Given the description of an element on the screen output the (x, y) to click on. 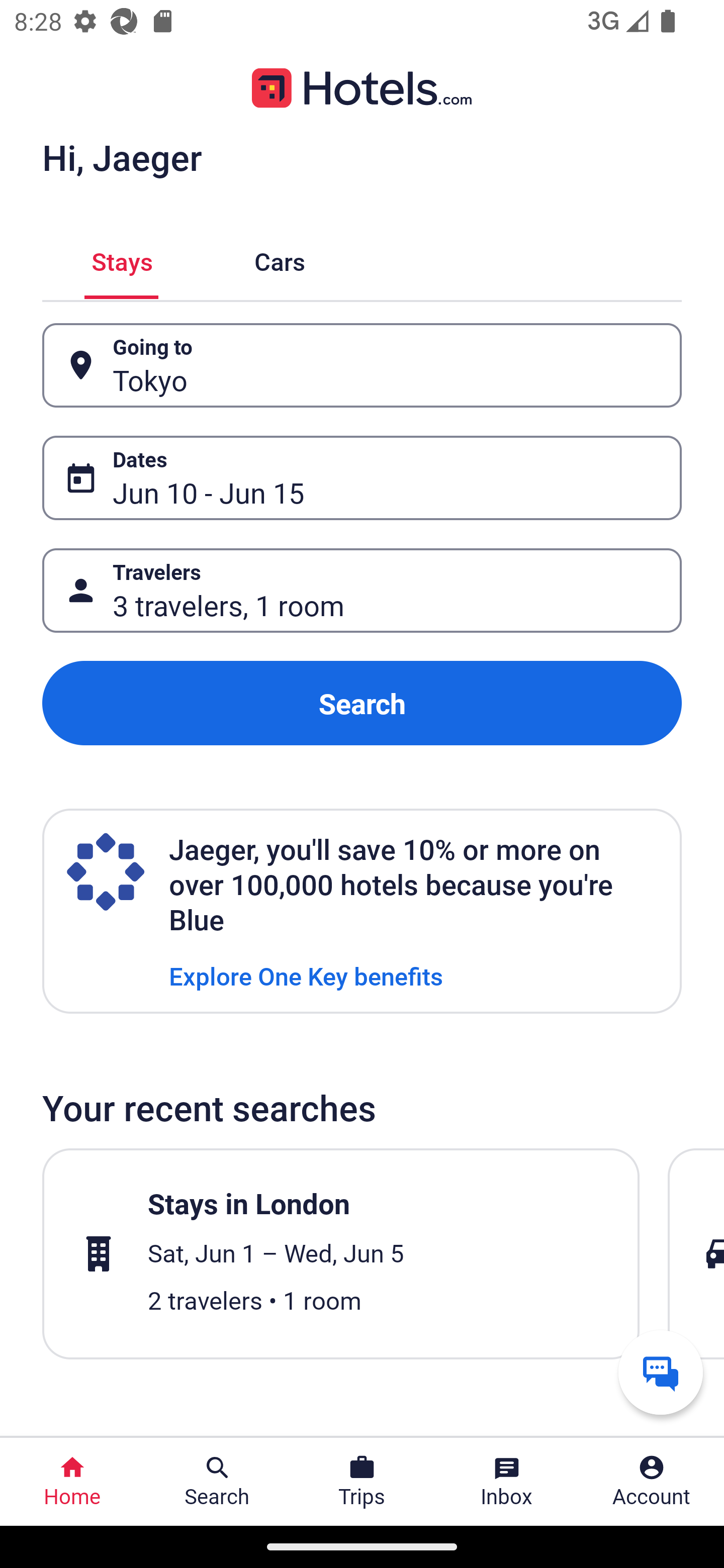
Hi, Jaeger (121, 156)
Cars (279, 259)
Going to Button Tokyo (361, 365)
Dates Button Jun 10 - Jun 15 (361, 477)
Travelers Button 3 travelers, 1 room (361, 590)
Search (361, 702)
Get help from a virtual agent (660, 1371)
Search Search Button (216, 1481)
Trips Trips Button (361, 1481)
Inbox Inbox Button (506, 1481)
Account Profile. Button (651, 1481)
